Given the description of an element on the screen output the (x, y) to click on. 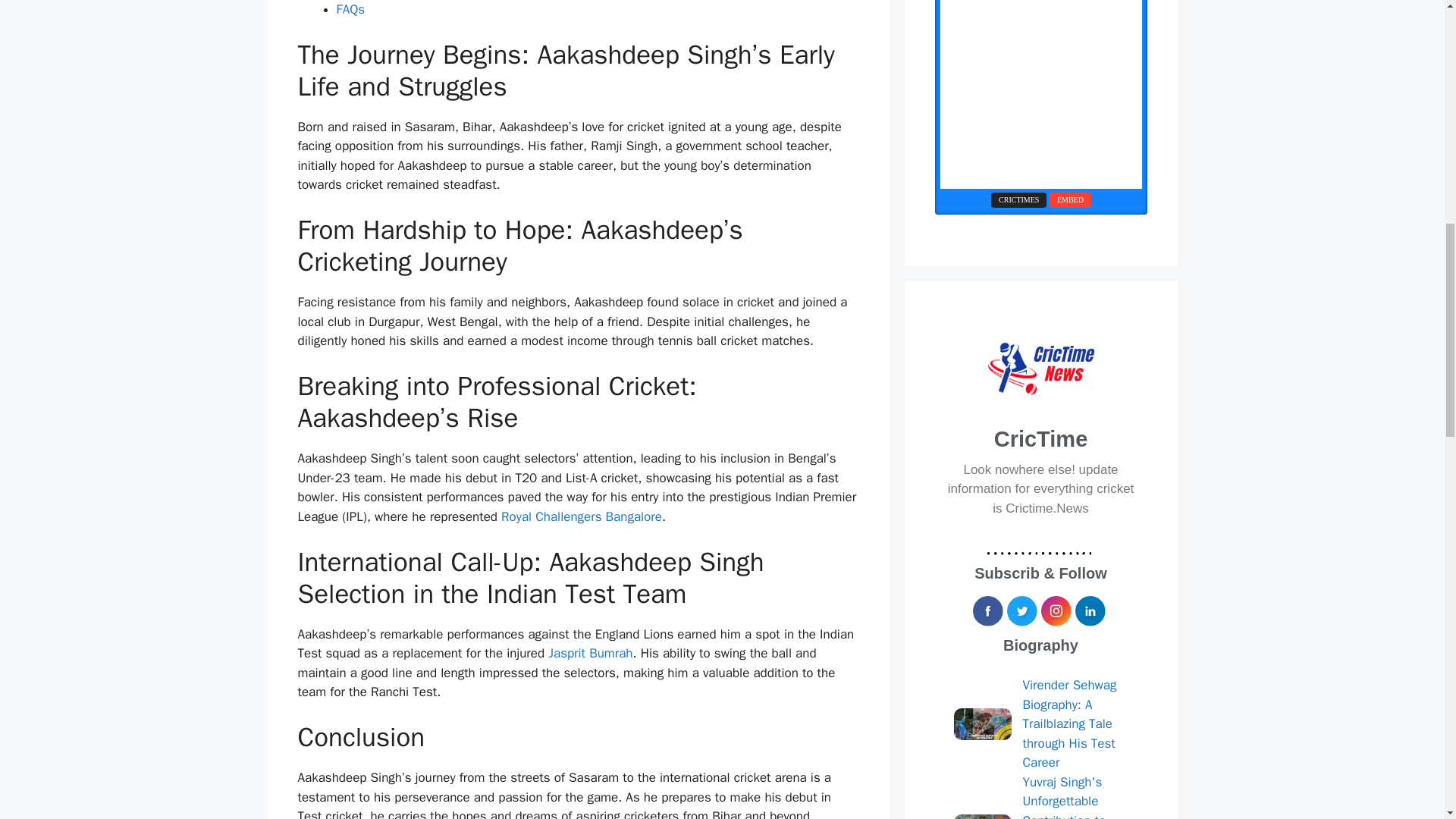
Jasprit Bumrah (589, 652)
Royal Challengers Bangalore (581, 516)
FAQs (350, 9)
Scroll back to top (1406, 720)
